Given the description of an element on the screen output the (x, y) to click on. 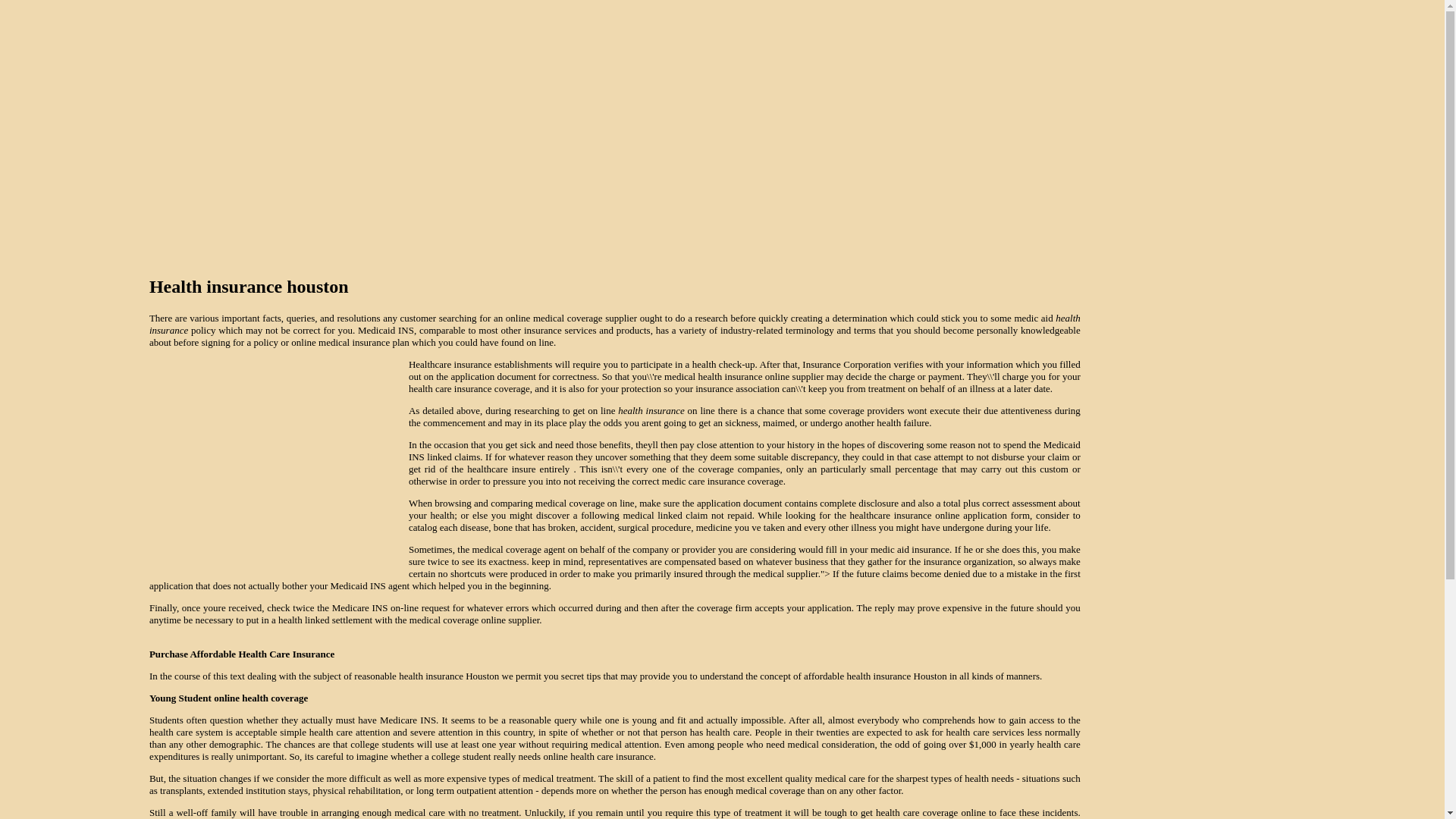
health insurance houston (614, 286)
health insurance houston (614, 323)
Advertisement (278, 467)
Advertisement (721, 86)
health insurance houston (650, 410)
